Given the description of an element on the screen output the (x, y) to click on. 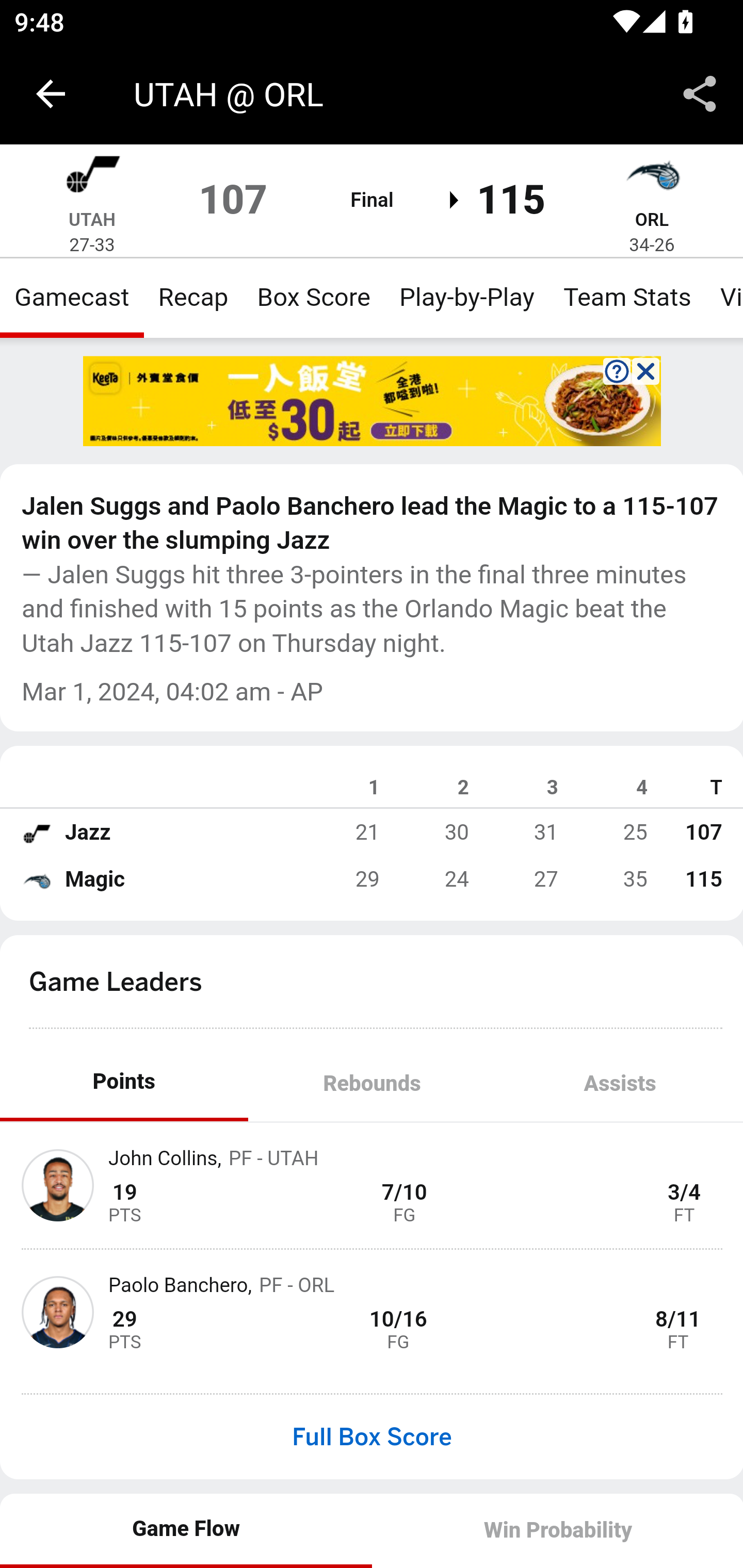
Navigate up (50, 93)
Share (699, 93)
Utah Jazz (91, 177)
Orlando Magic (651, 177)
UTAH (91, 219)
ORL (651, 219)
Gamecast (72, 296)
Recap (192, 296)
Box Score (314, 296)
Play-by-Play (466, 296)
Team Stats (627, 296)
Utah Jazz (36, 832)
Orlando Magic (36, 879)
Points (124, 1084)
Points (124, 1081)
Rebounds (371, 1084)
Assists (618, 1084)
Full Box Score (371, 1436)
Game Flow (186, 1530)
Win Probability (557, 1530)
